Given the description of an element on the screen output the (x, y) to click on. 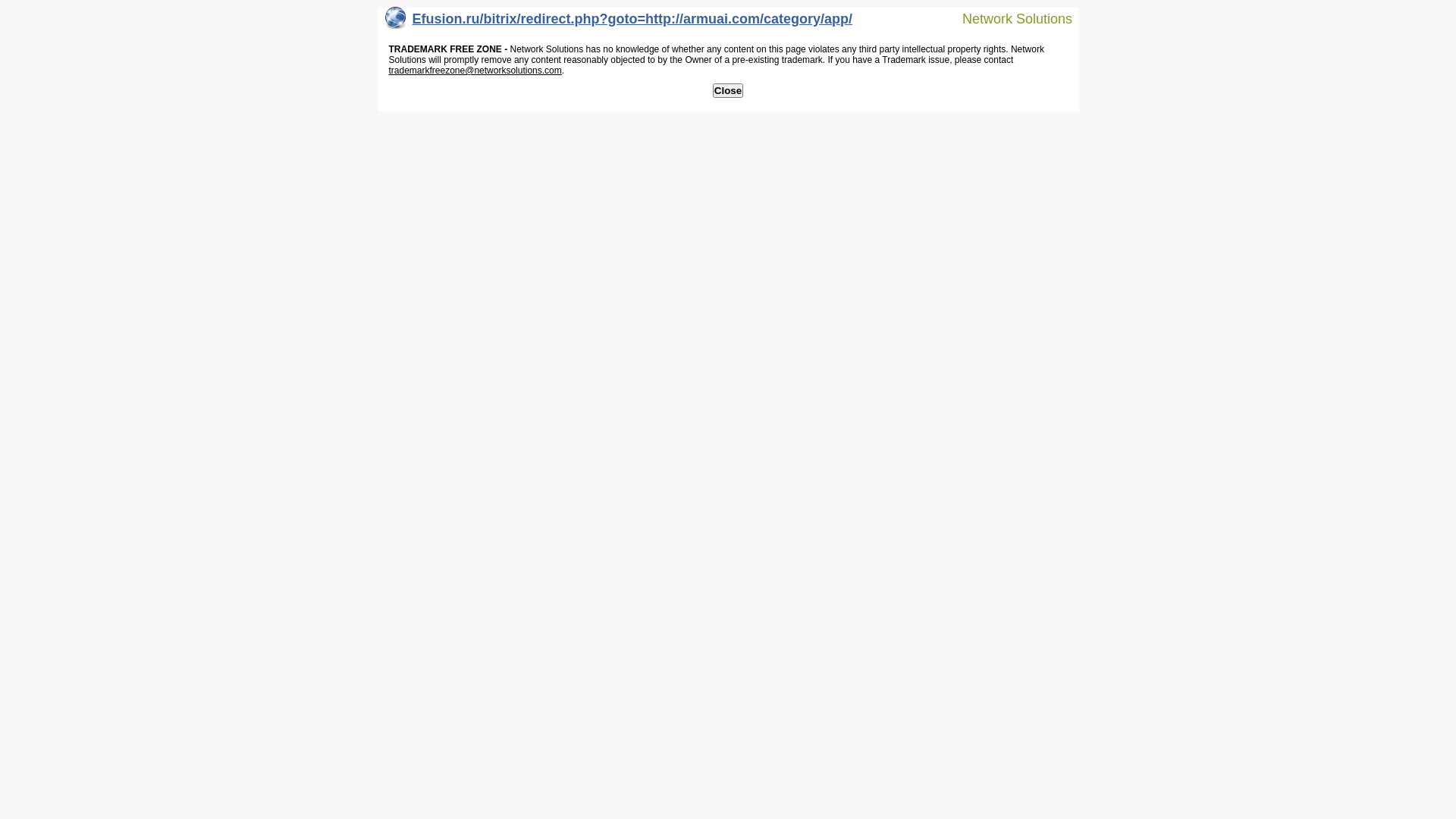
trademarkfreezone@networksolutions.com Element type: text (474, 70)
Network Solutions Element type: text (1007, 17)
Close Element type: text (727, 90)
